Given the description of an element on the screen output the (x, y) to click on. 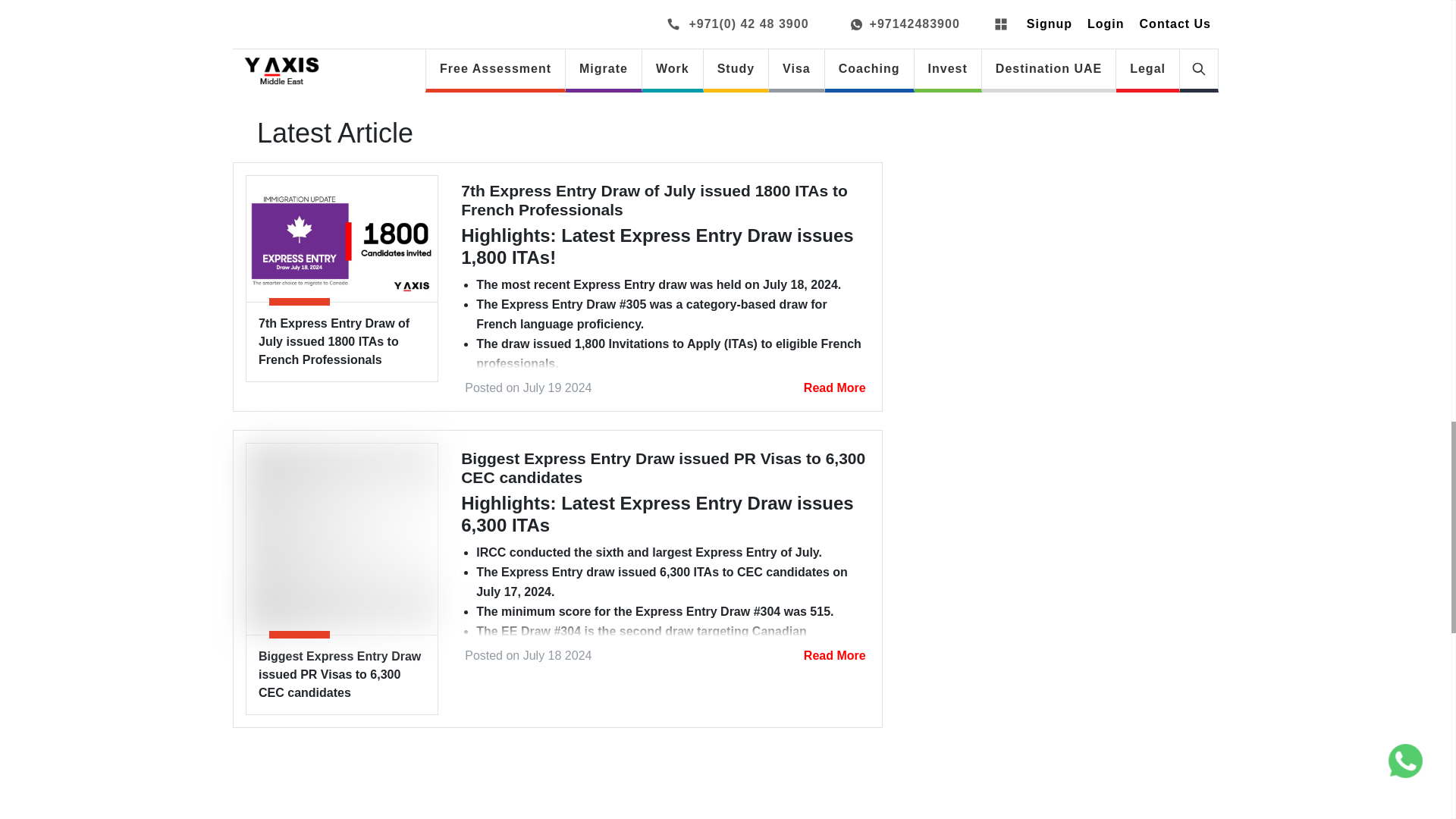
Personalized Services (576, 51)
PR Visas (342, 538)
Personalized Services (259, 51)
Express Entry Draw  (342, 239)
Personalized Services (418, 51)
